Given the description of an element on the screen output the (x, y) to click on. 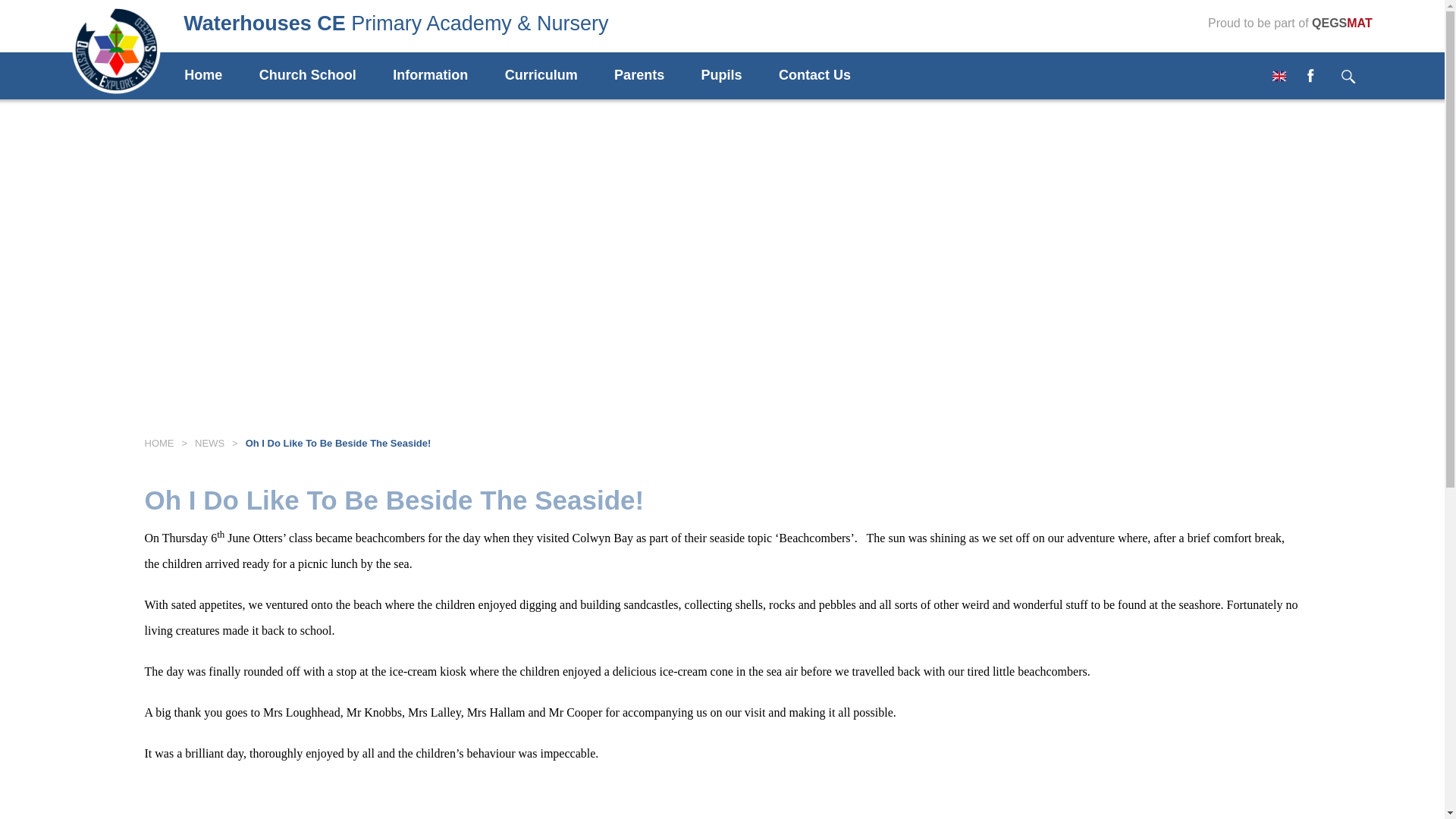
Parents (655, 75)
Home (220, 75)
Information (446, 75)
Church School (324, 75)
Curriculum (558, 75)
QEGSMAT (1342, 22)
